Given the description of an element on the screen output the (x, y) to click on. 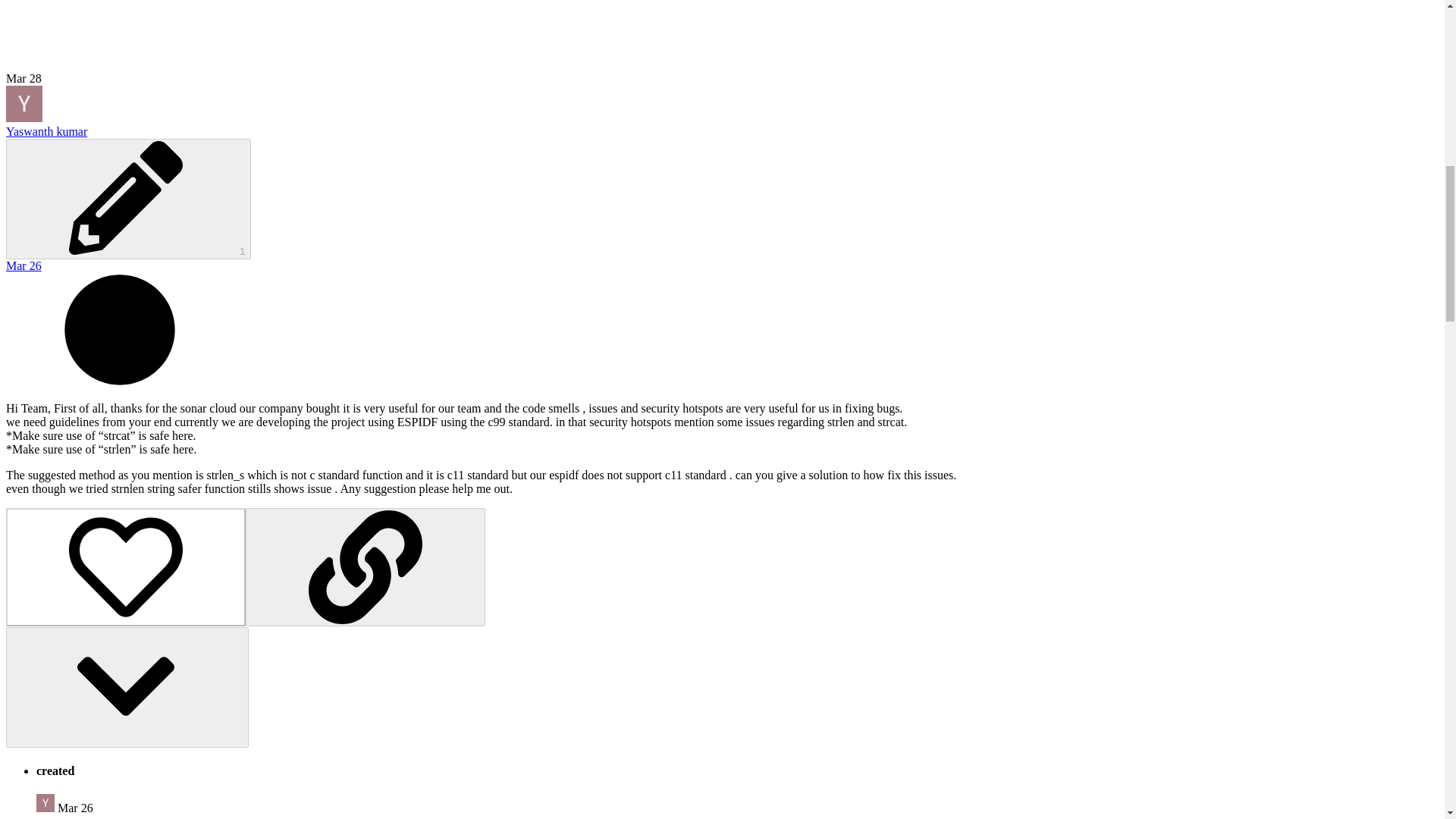
Yaswanth kumar (46, 131)
Yaswanth kumar (45, 802)
expand topic details (126, 687)
post last edited on Mar 26, 2024 7:17 pm (127, 198)
Mar 26 (23, 265)
copy a link to this post to clipboard (365, 566)
Please sign up or log in to like this post (125, 566)
Mar 26, 2024 3:23 pm (75, 807)
Mar 28 (23, 78)
1 (127, 198)
Post date (23, 265)
Jump to the last post (23, 78)
